Given the description of an element on the screen output the (x, y) to click on. 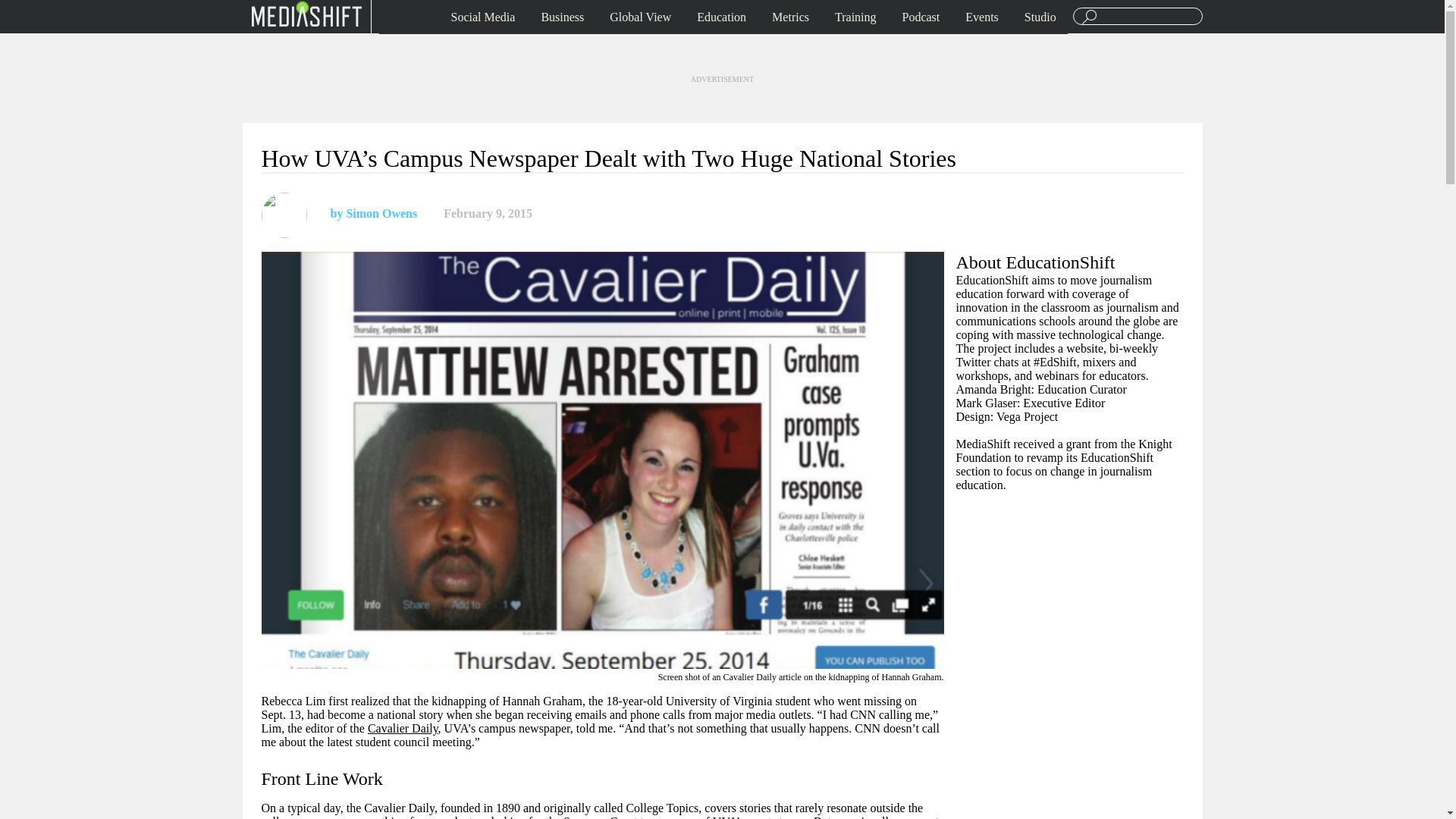
Metrics (790, 17)
Social Media (483, 17)
Business (562, 17)
Studio (1040, 17)
Training (856, 17)
Events (981, 17)
Share by Email (612, 213)
Education (721, 17)
Mediashift (305, 13)
Podcast (921, 17)
